Given the description of an element on the screen output the (x, y) to click on. 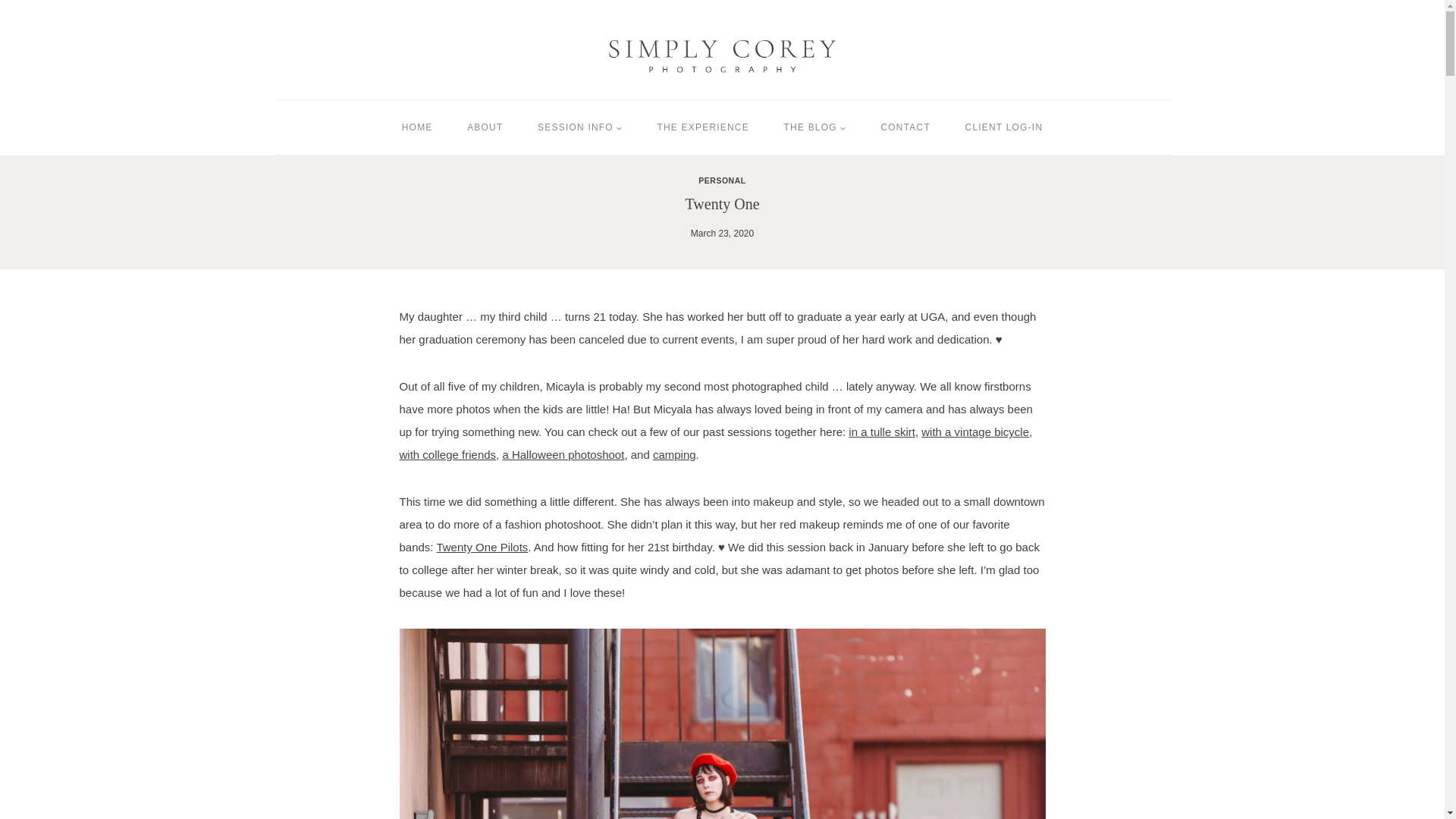
THE EXPERIENCE (703, 126)
Twenty One Pilots (481, 546)
with a vintage bicycle (975, 431)
CONTACT (905, 126)
PERSONAL (721, 180)
ABOUT (484, 126)
camping (673, 454)
THE BLOG (815, 126)
in a tulle skirt (881, 431)
CLIENT LOG-IN (1003, 126)
